Given the description of an element on the screen output the (x, y) to click on. 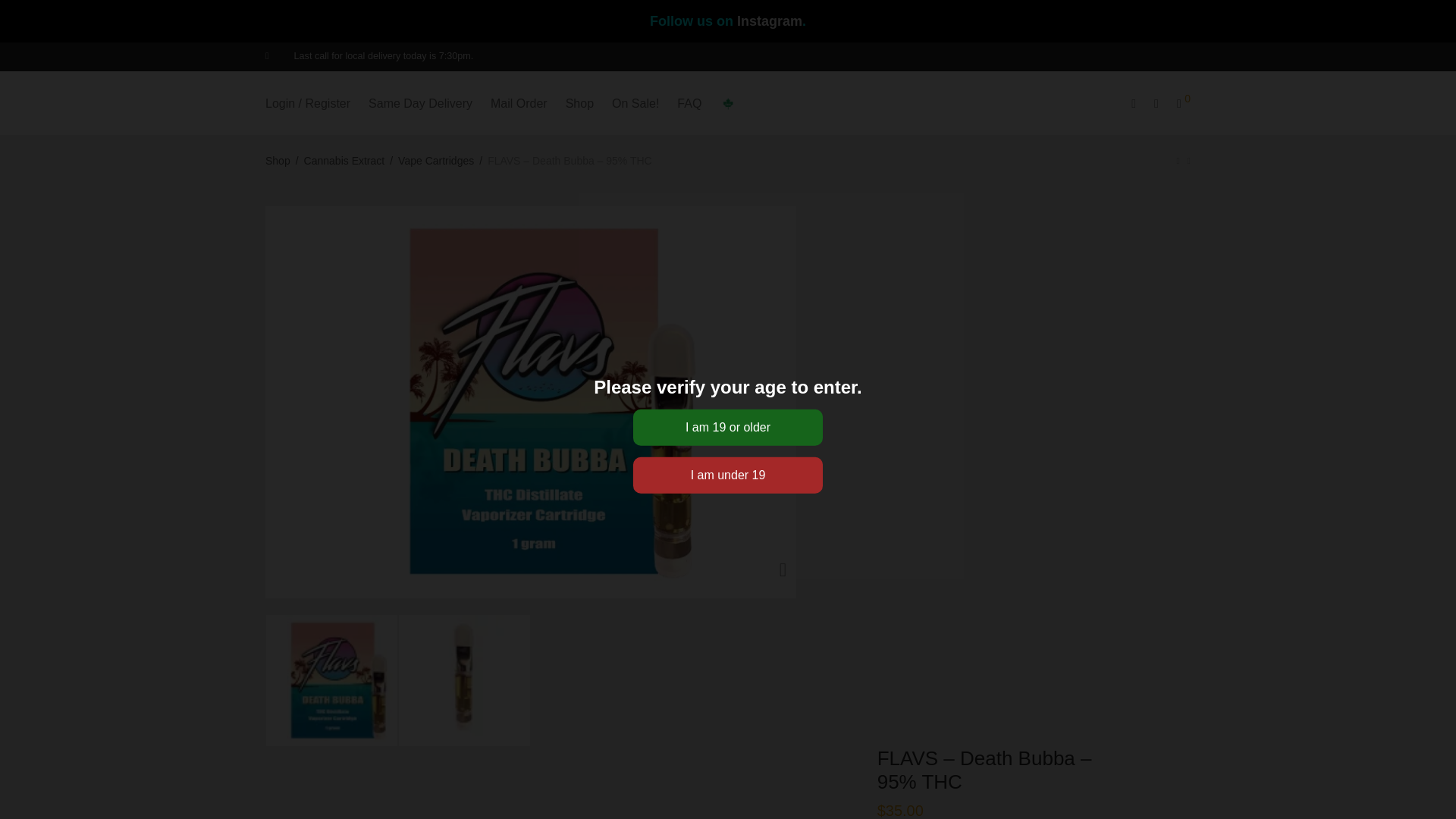
Same Day Delivery (420, 103)
Instagram (769, 20)
I am 19 or older (727, 426)
Mail Order (518, 103)
I am under 19 (727, 474)
Shop (579, 103)
